Given the description of an element on the screen output the (x, y) to click on. 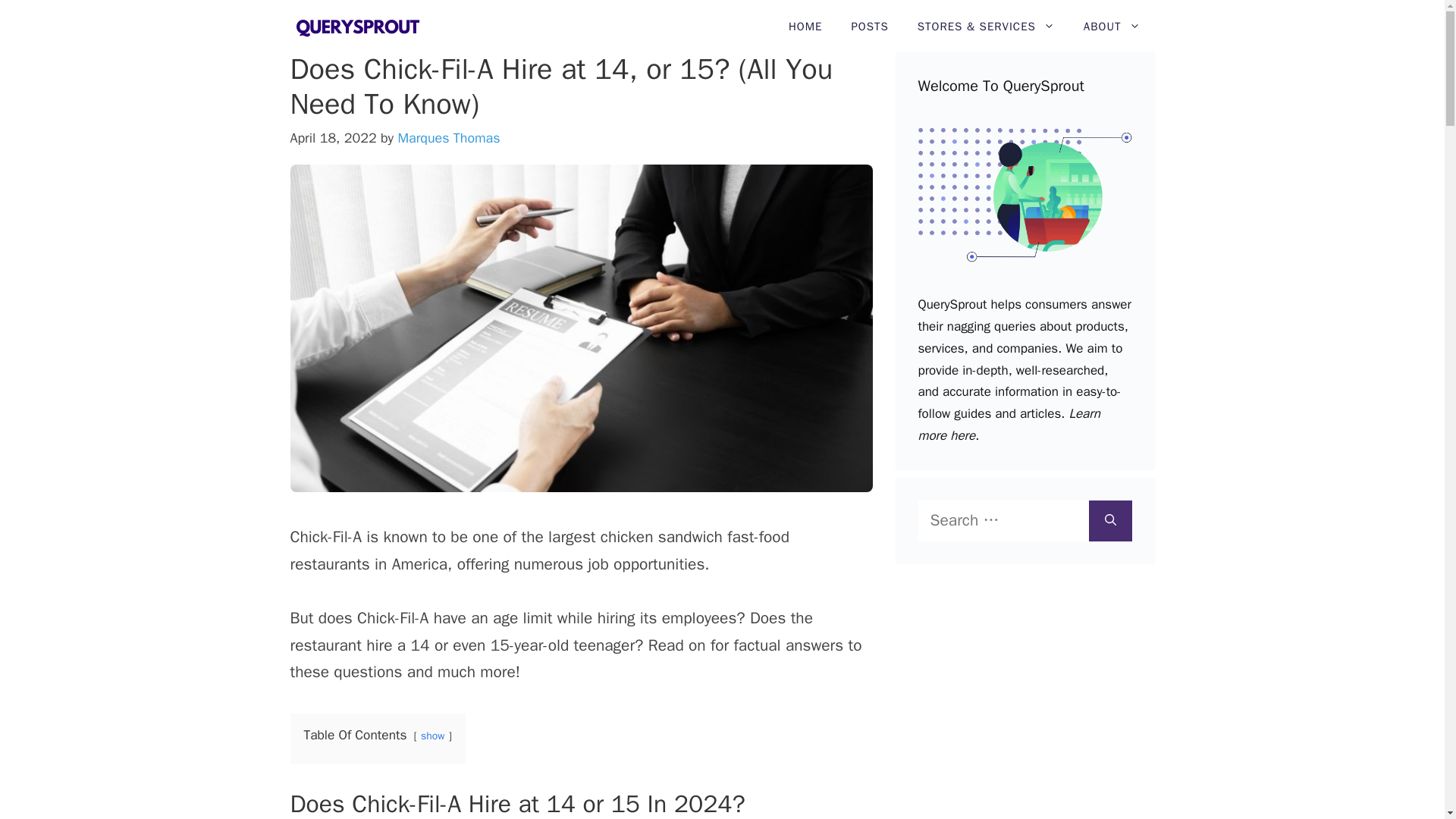
Search for: (1002, 520)
ABOUT (1111, 26)
View all posts by Marques Thomas (448, 137)
HOME (804, 26)
show (432, 735)
Marques Thomas (448, 137)
POSTS (868, 26)
